Given the description of an element on the screen output the (x, y) to click on. 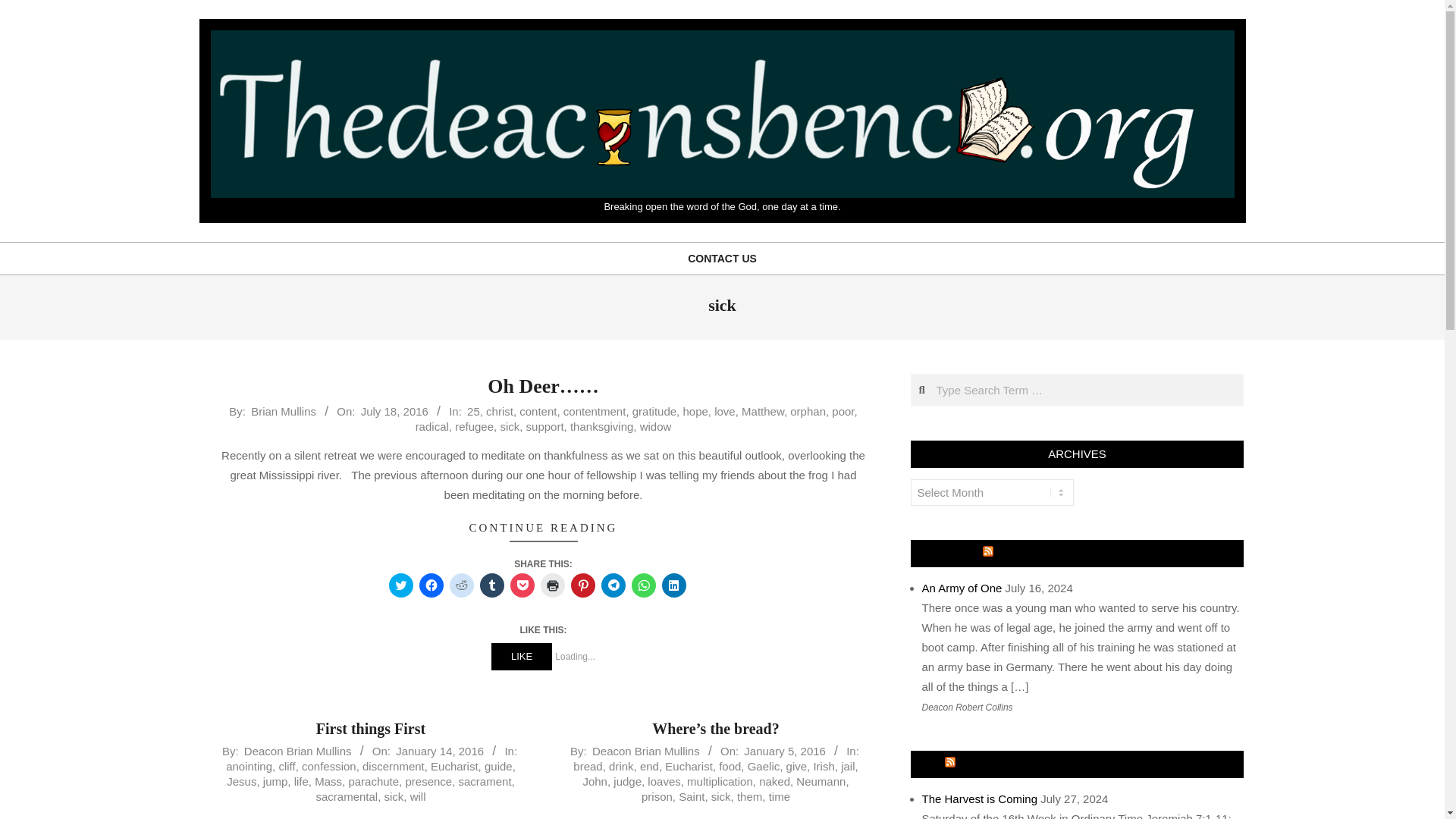
Click to share on Pinterest (582, 585)
Thursday, January 14, 2016, 7:37 am (439, 750)
Click to share on Reddit (460, 585)
Click to share on LinkedIn (673, 585)
anointing (248, 766)
Click to share on Tumblr (491, 585)
hope (694, 410)
refugee (473, 426)
Posts by Deacon Brian Mullins (298, 750)
First things First (370, 728)
cliff (286, 766)
support (544, 426)
Click to share on Pocket (521, 585)
confession (328, 766)
radical (431, 426)
